Given the description of an element on the screen output the (x, y) to click on. 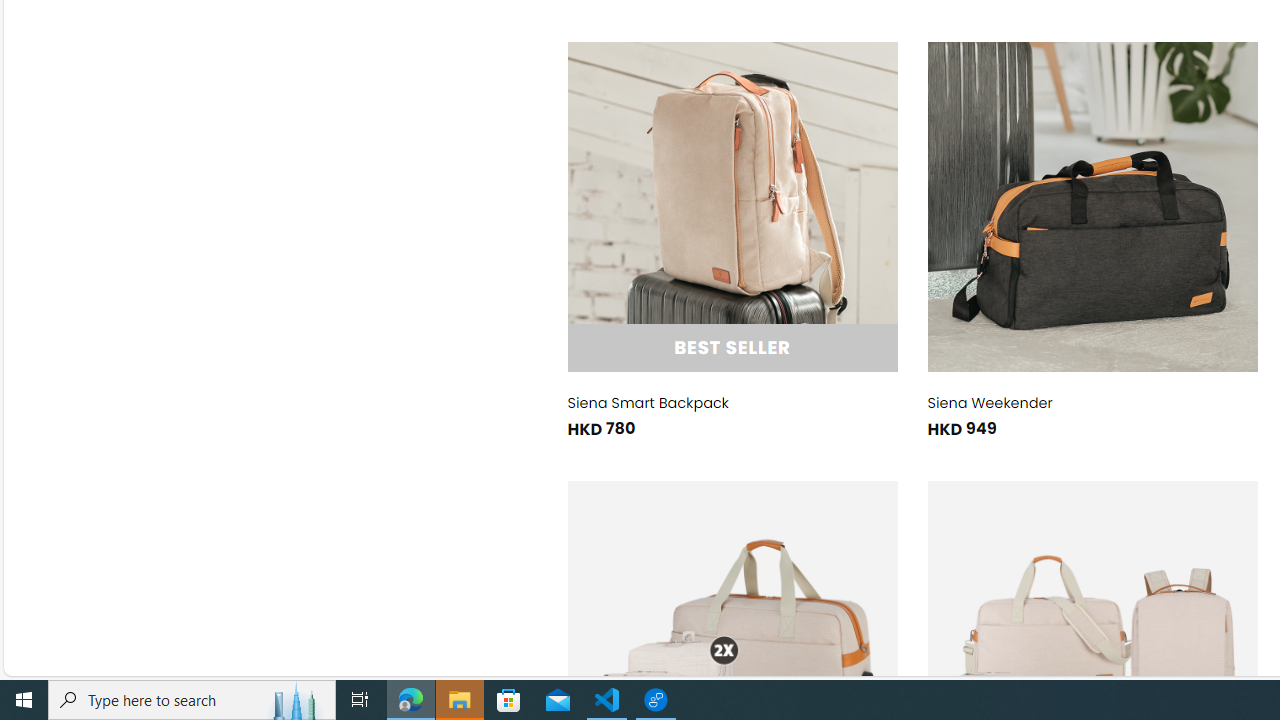
Class: fill (1092, 206)
